Given the description of an element on the screen output the (x, y) to click on. 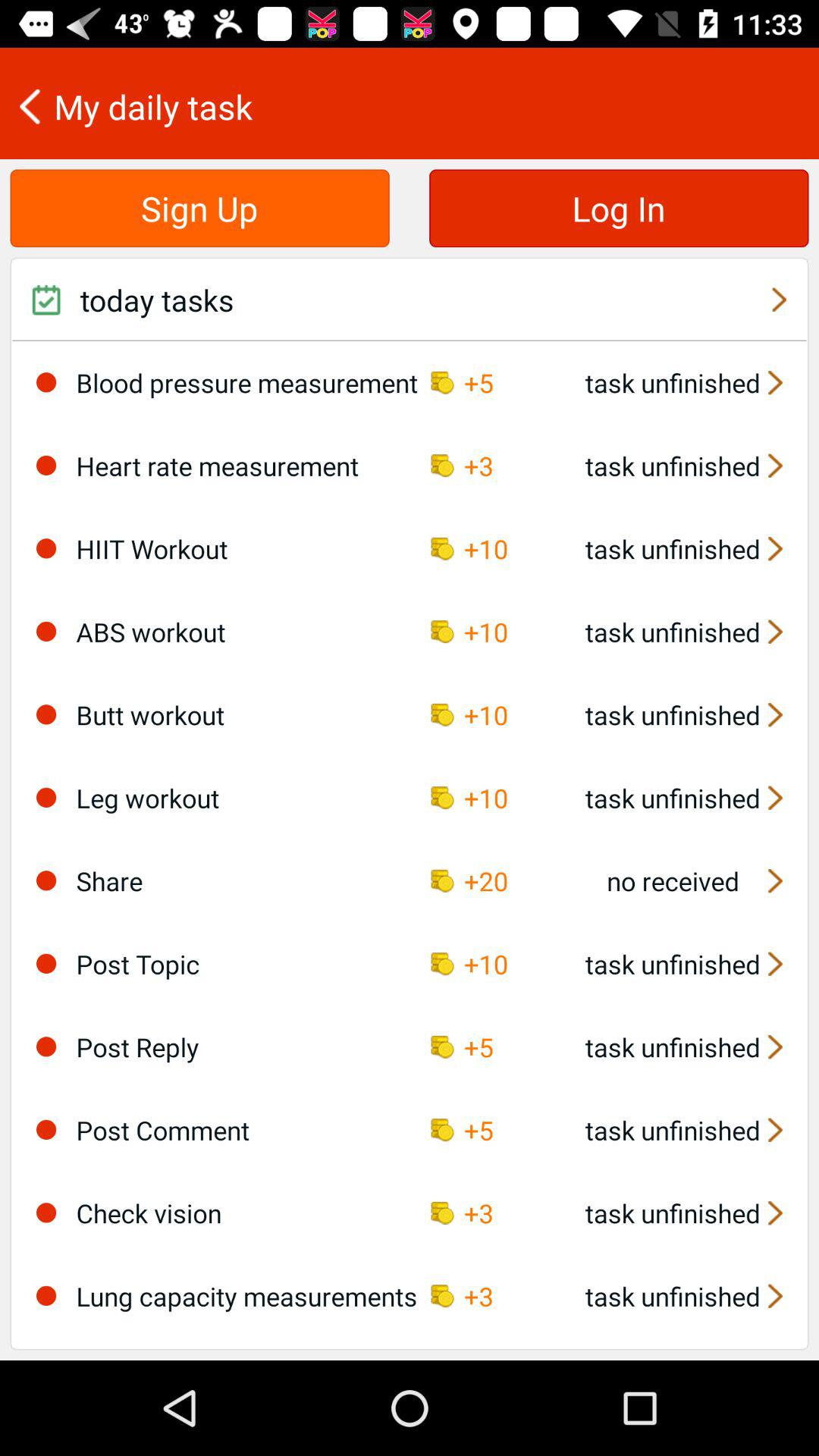
check vision (46, 1212)
